Given the description of an element on the screen output the (x, y) to click on. 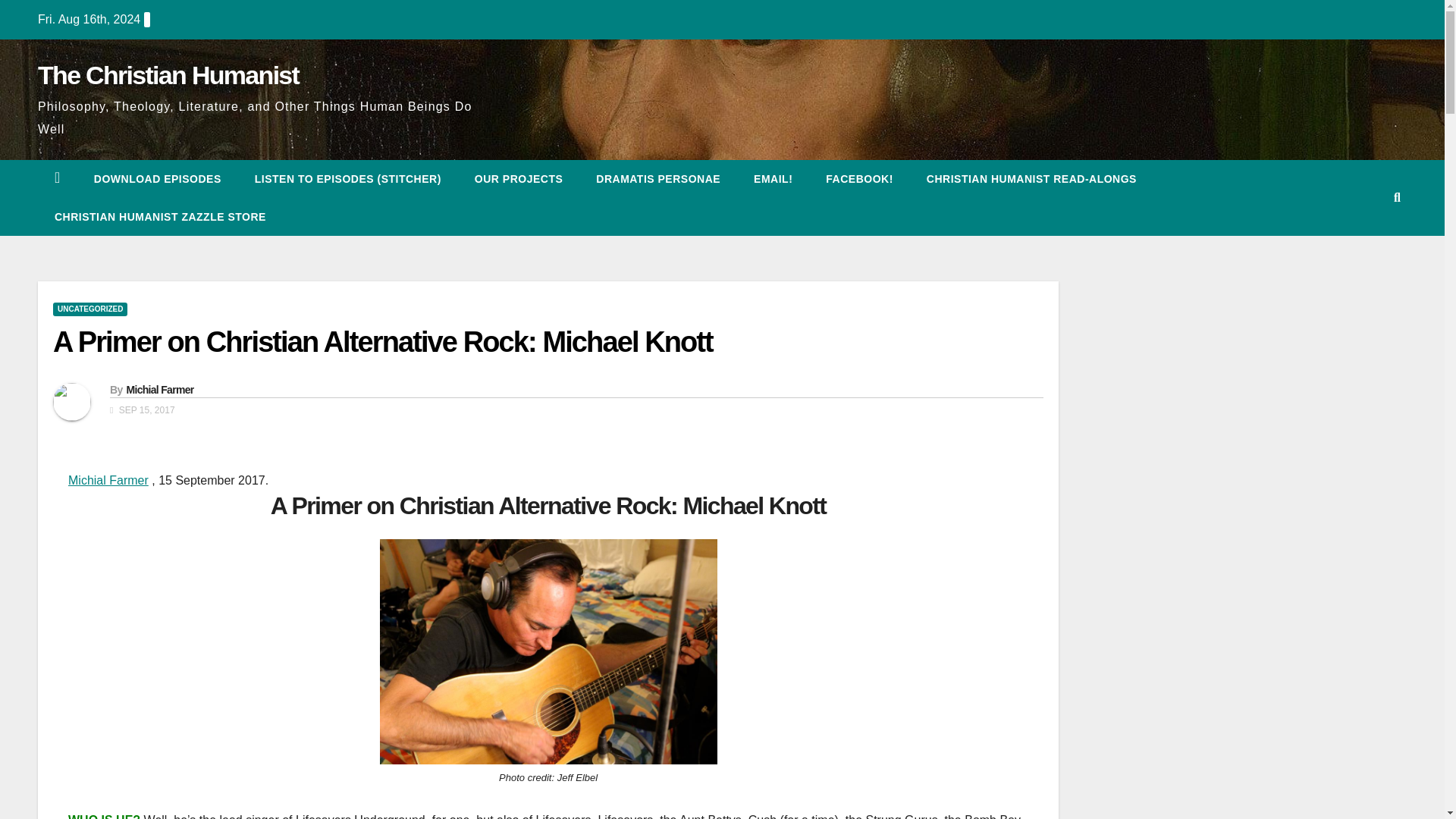
The Christian Humanist (167, 74)
OUR PROJECTS (518, 178)
DRAMATIS PERSONAE (657, 178)
Download Episodes (157, 178)
DOWNLOAD EPISODES (157, 178)
